Given the description of an element on the screen output the (x, y) to click on. 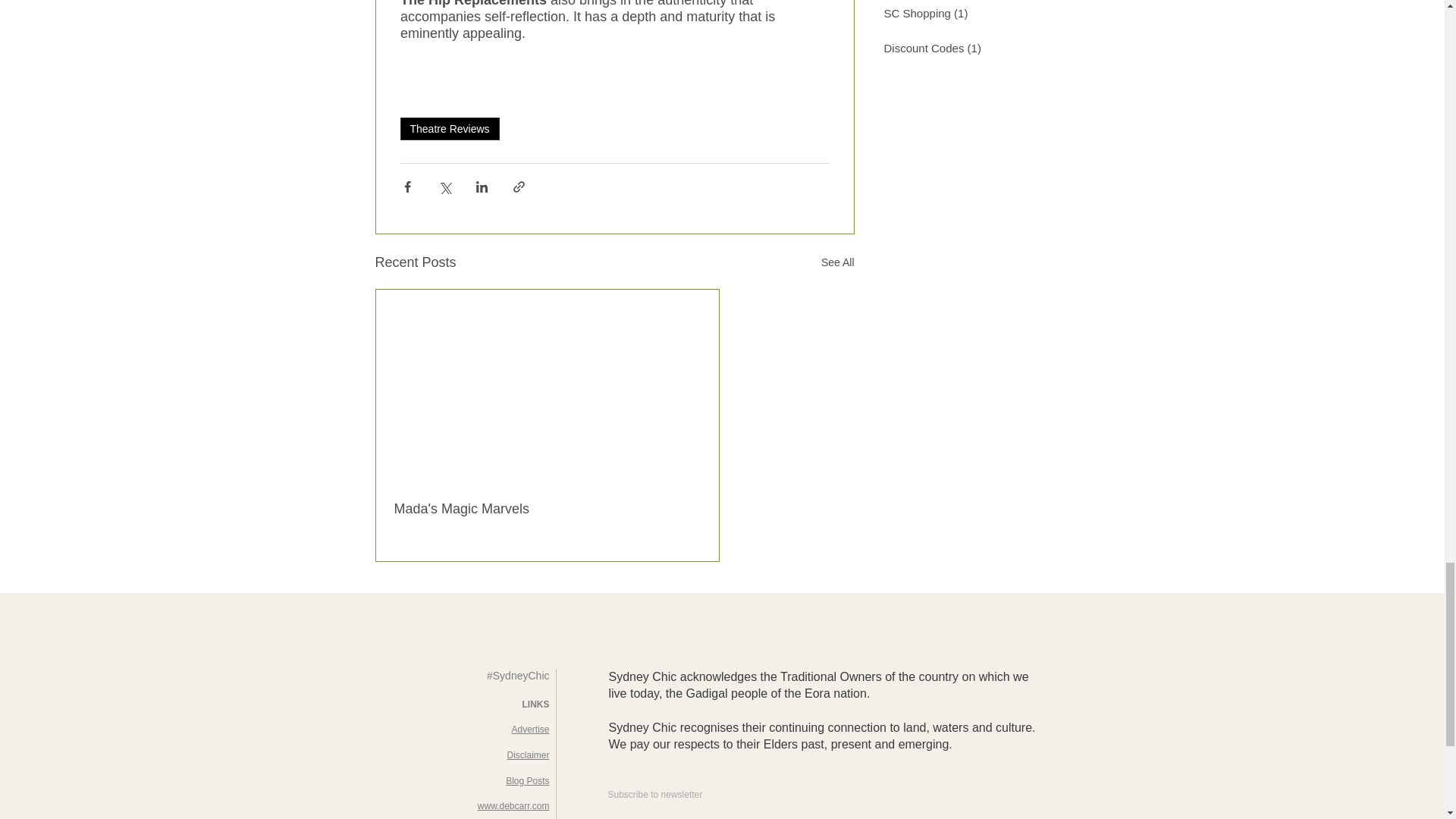
See All (837, 262)
Theatre Reviews (449, 128)
Mada's Magic Marvels (547, 508)
